Given the description of an element on the screen output the (x, y) to click on. 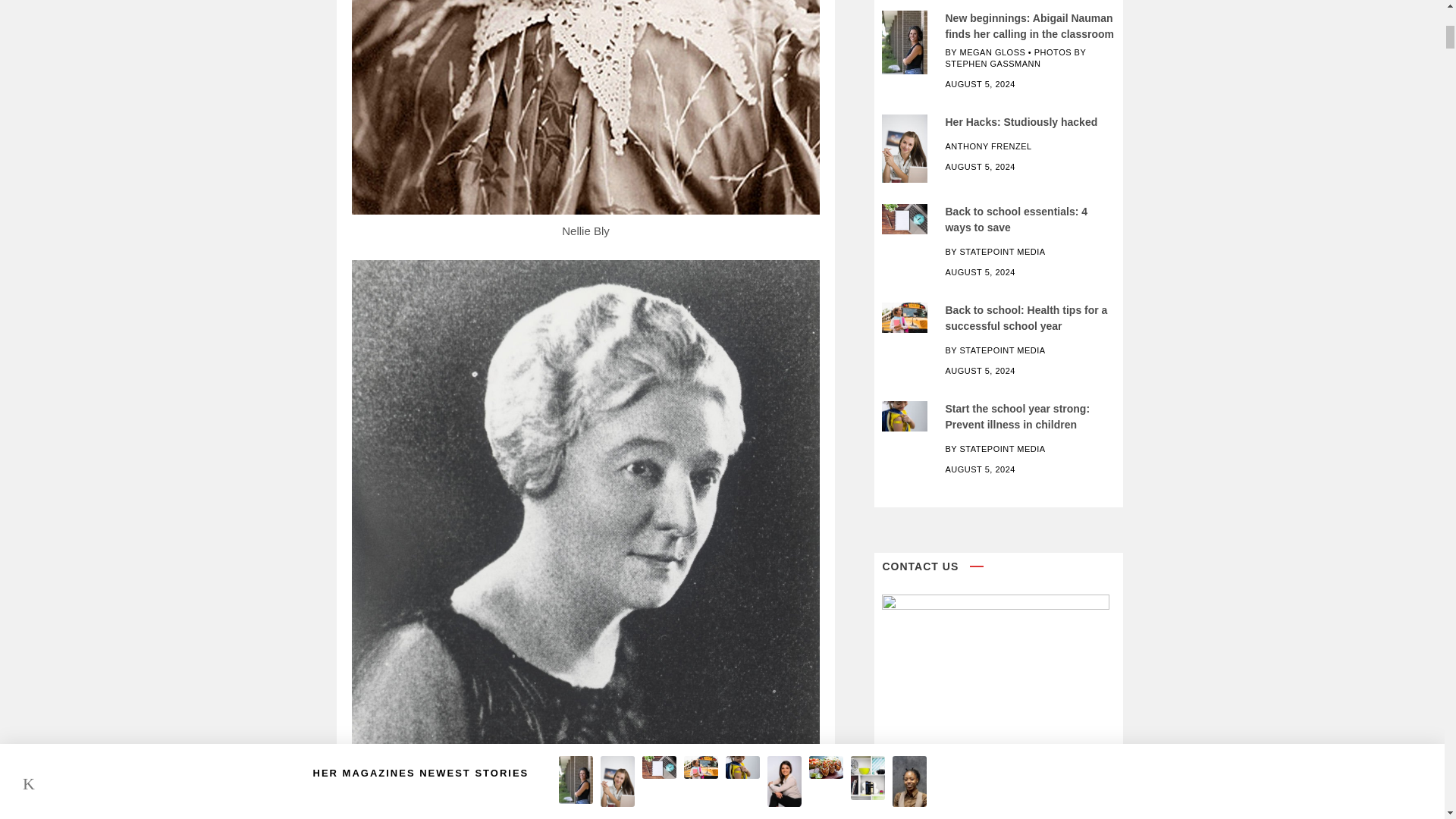
Posts by by statepoint media (994, 349)
Health (904, 416)
N2312P12006H.jpg (904, 218)
Posts by Anthony Frenzel (987, 145)
Posts by by statepoint media (994, 251)
Health 2 (904, 317)
